Given the description of an element on the screen output the (x, y) to click on. 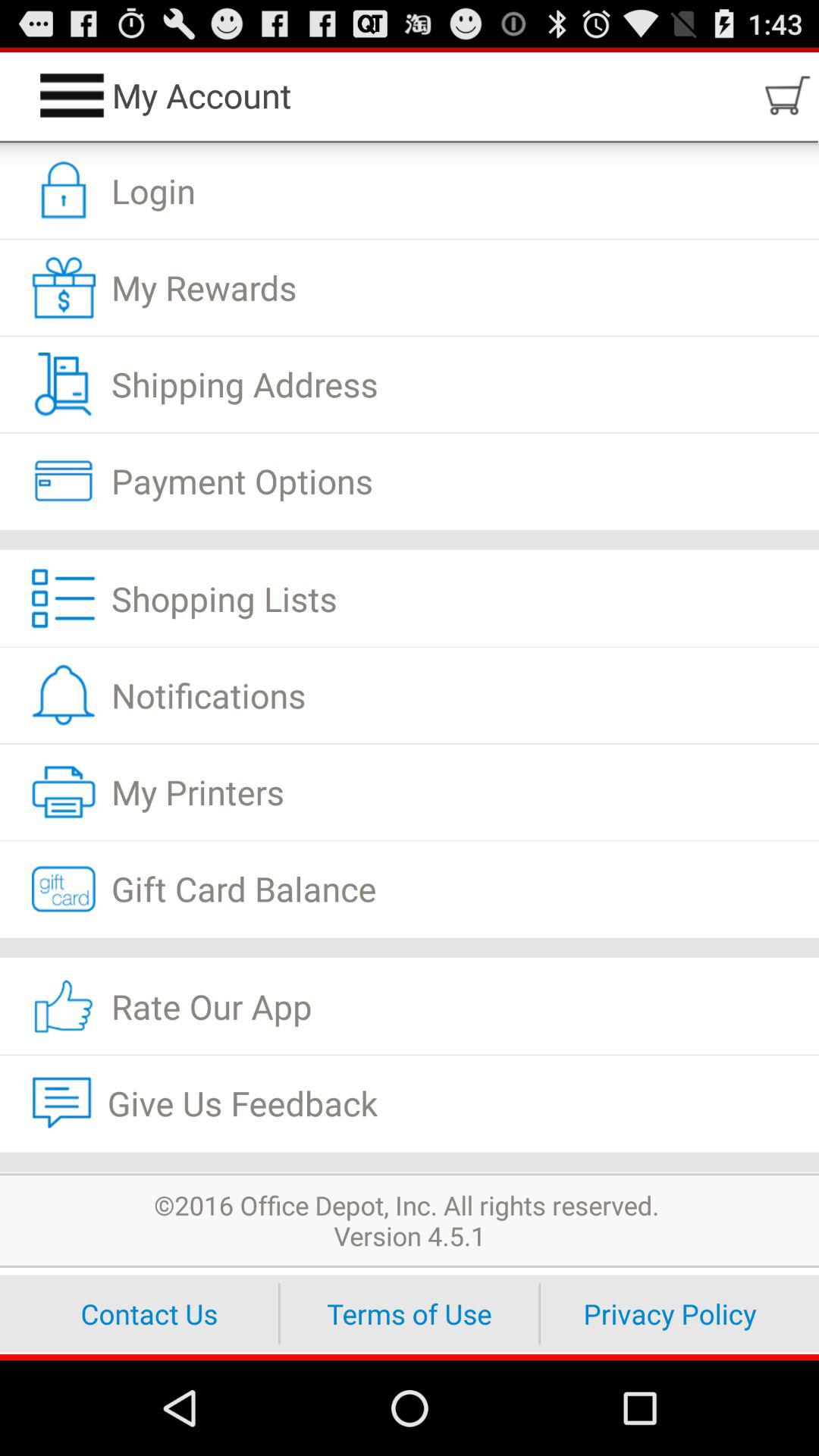
turn on the app below the give us feedback app (409, 1162)
